Given the description of an element on the screen output the (x, y) to click on. 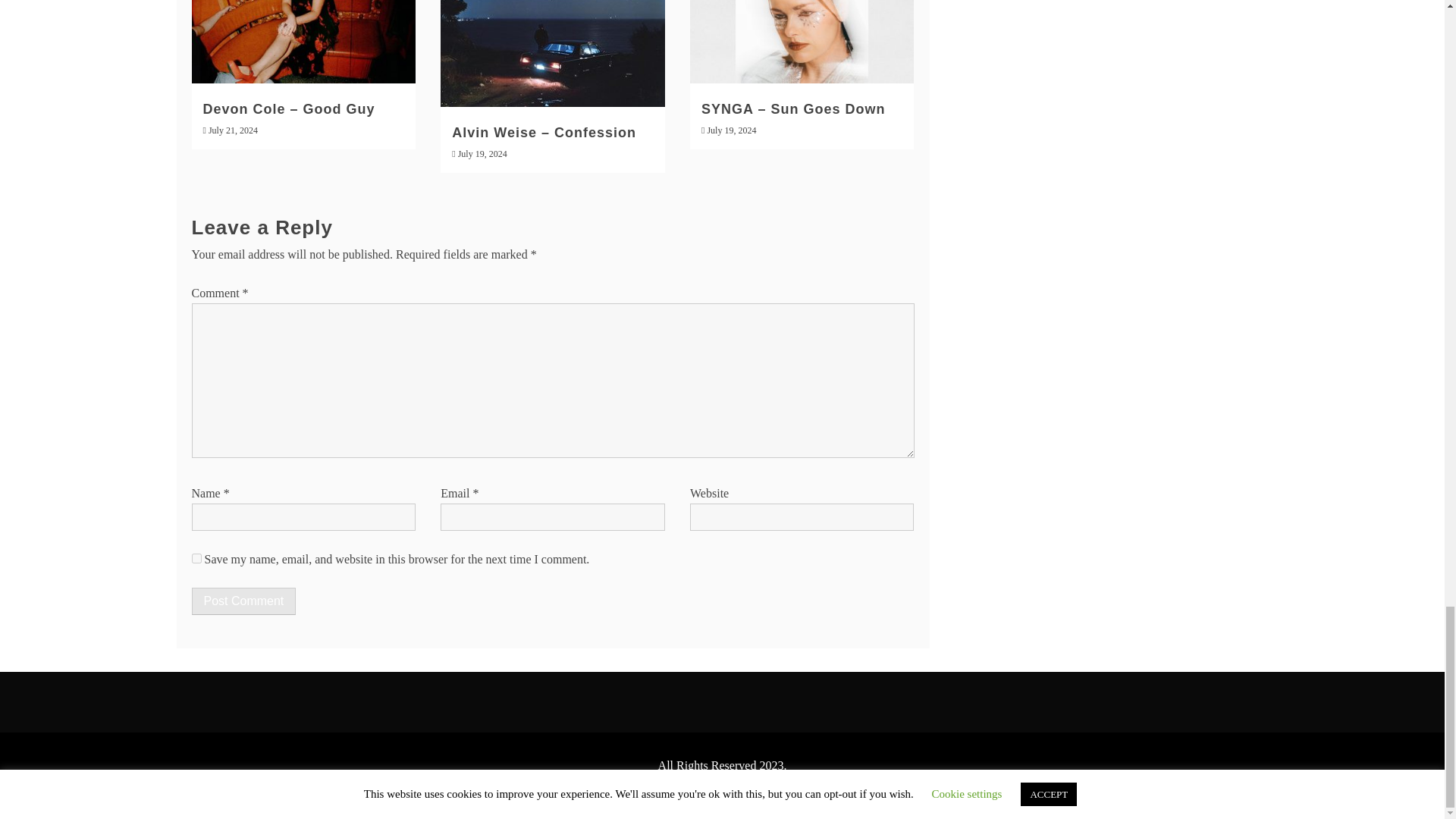
yes (195, 558)
Post Comment (242, 601)
